Given the description of an element on the screen output the (x, y) to click on. 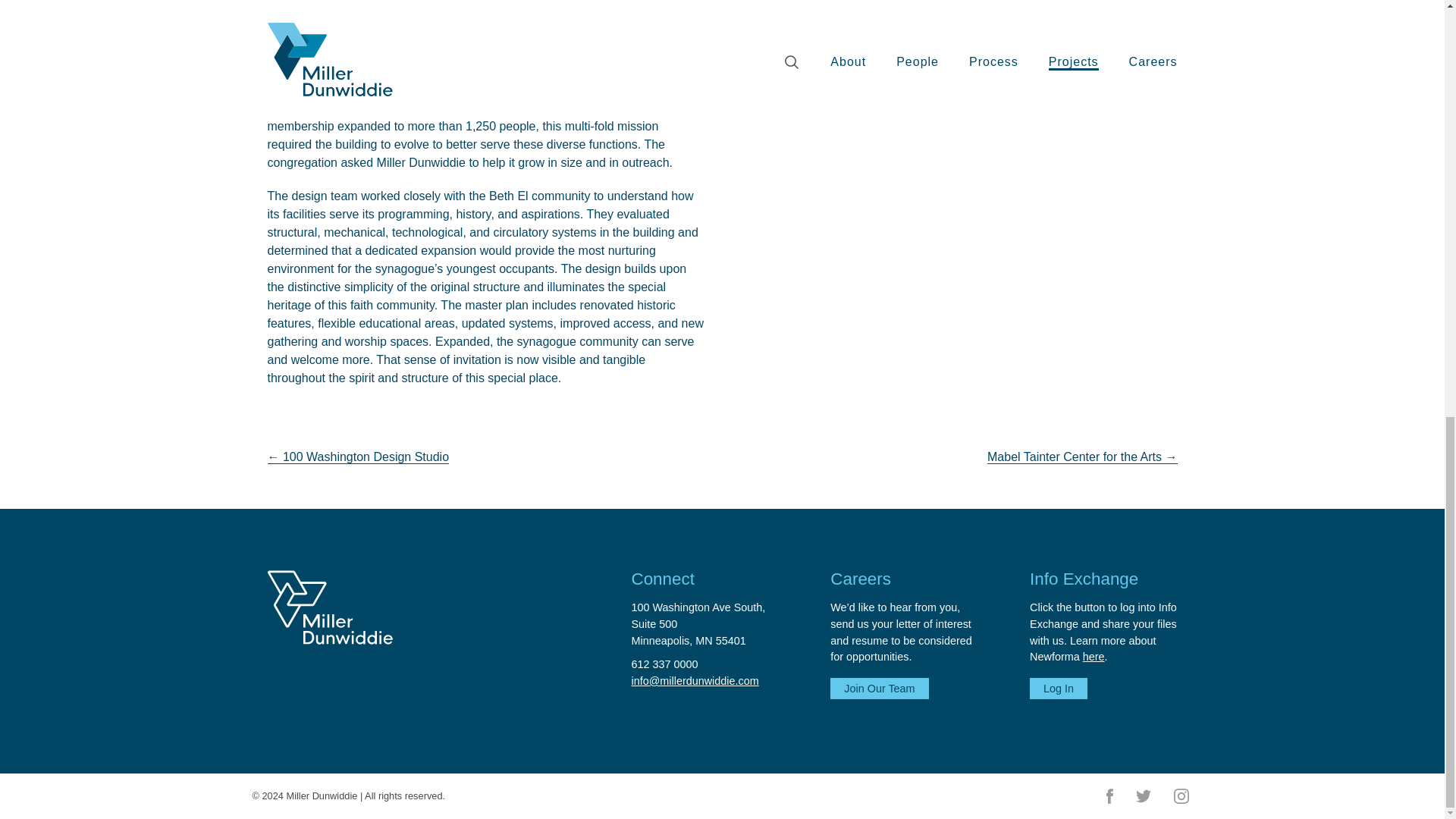
twitter (703, 622)
Log In (1142, 795)
facebook (1058, 688)
612 337 0000 (1109, 795)
instagram (663, 664)
Join Our Team (1180, 795)
here (878, 688)
